Given the description of an element on the screen output the (x, y) to click on. 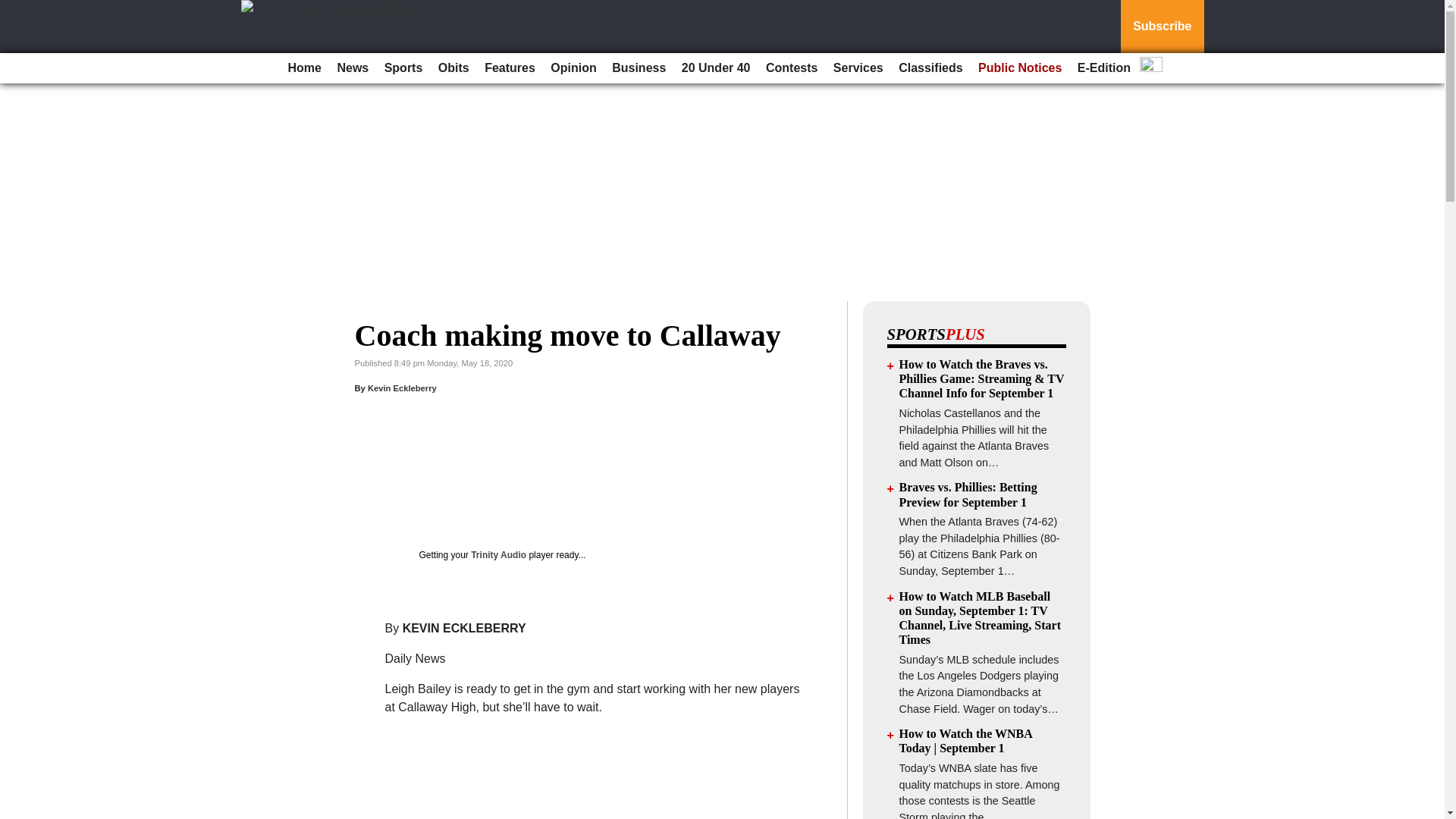
Home (304, 68)
Trinity Audio (497, 554)
Obits (454, 68)
Sports (403, 68)
Contests (792, 68)
Subscribe (1162, 26)
Business (638, 68)
Services (858, 68)
Braves vs. Phillies: Betting Preview for September 1 (967, 493)
Opinion (573, 68)
